Given the description of an element on the screen output the (x, y) to click on. 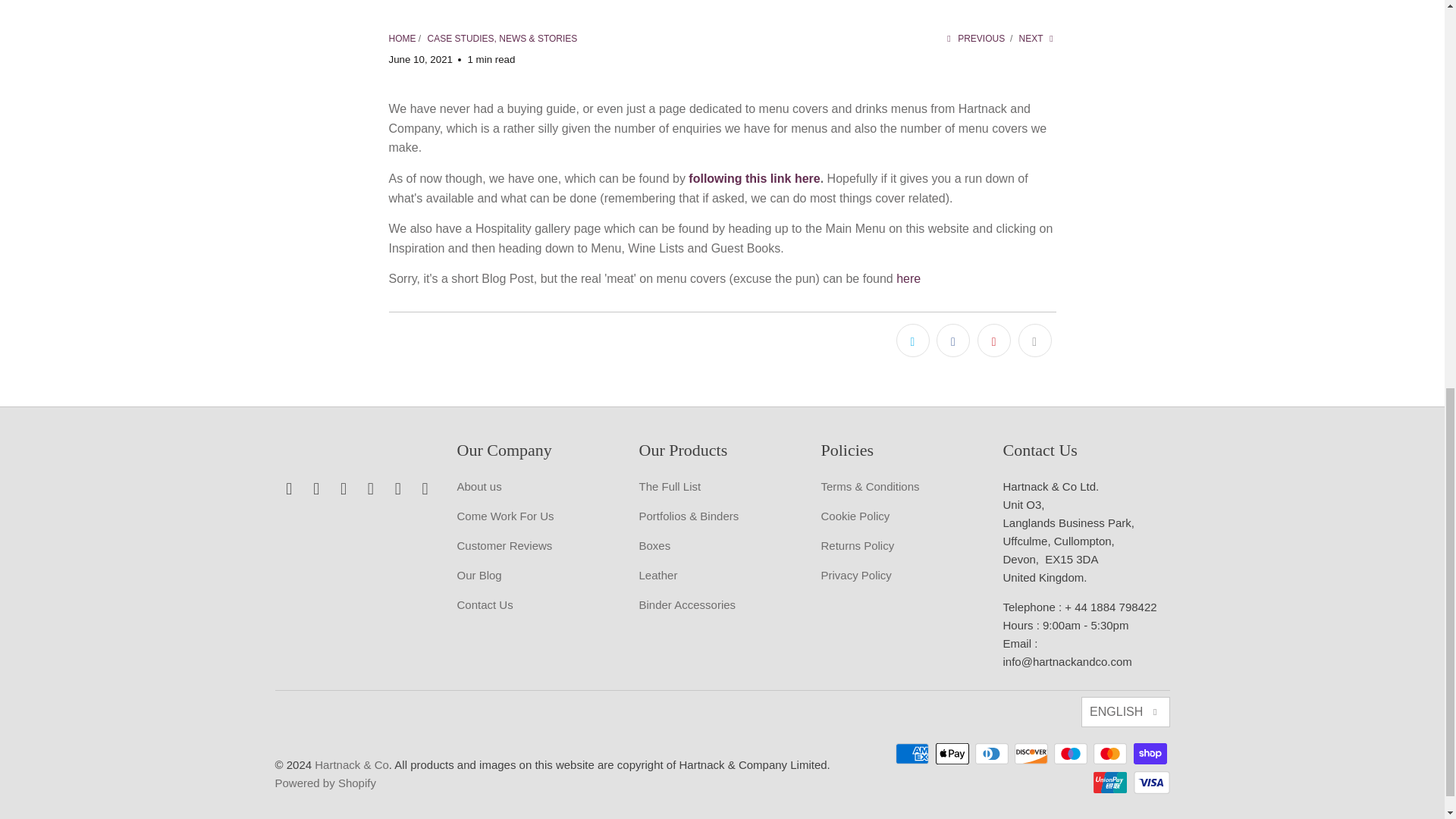
Visa (1150, 782)
Diners Club (993, 753)
Union Pay (1111, 782)
American Express (913, 753)
Shop Pay (1150, 753)
Mastercard (1111, 753)
Maestro (1072, 753)
Discover (1032, 753)
A guide to luxury and custom made menu covers (908, 278)
